Given the description of an element on the screen output the (x, y) to click on. 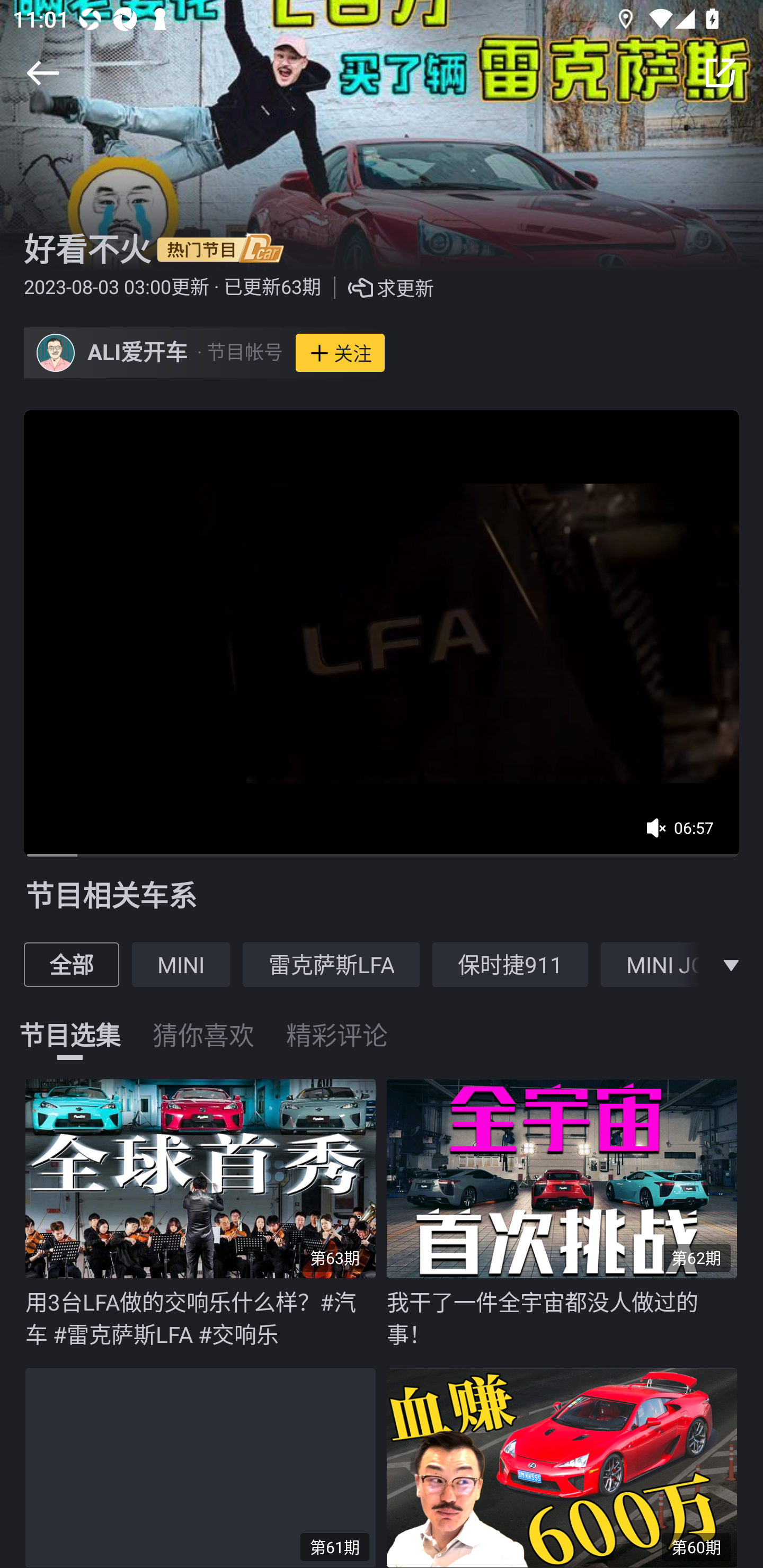
 (42, 72)
 (720, 72)
 求更新 (377, 287)
ALI爱开车 (137, 352)
· 节目帐号 (239, 352)
 关注 (340, 352)
06:57 (685, 834)
 (731, 963)
全部 (71, 964)
MINI (180, 964)
雷克萨斯LFA (330, 964)
保时捷911 (510, 964)
节目选集 (69, 1023)
猜你喜欢 (203, 1023)
精彩评论 (336, 1023)
第63期 用3台LFA做的交响乐什么样？#汽车 #雷克萨斯LFA #交响乐 (205, 1214)
第62期 我干了一件全宇宙都没人做过的事！ (567, 1214)
第61期 (205, 1463)
第60期 (567, 1463)
